Given the description of an element on the screen output the (x, y) to click on. 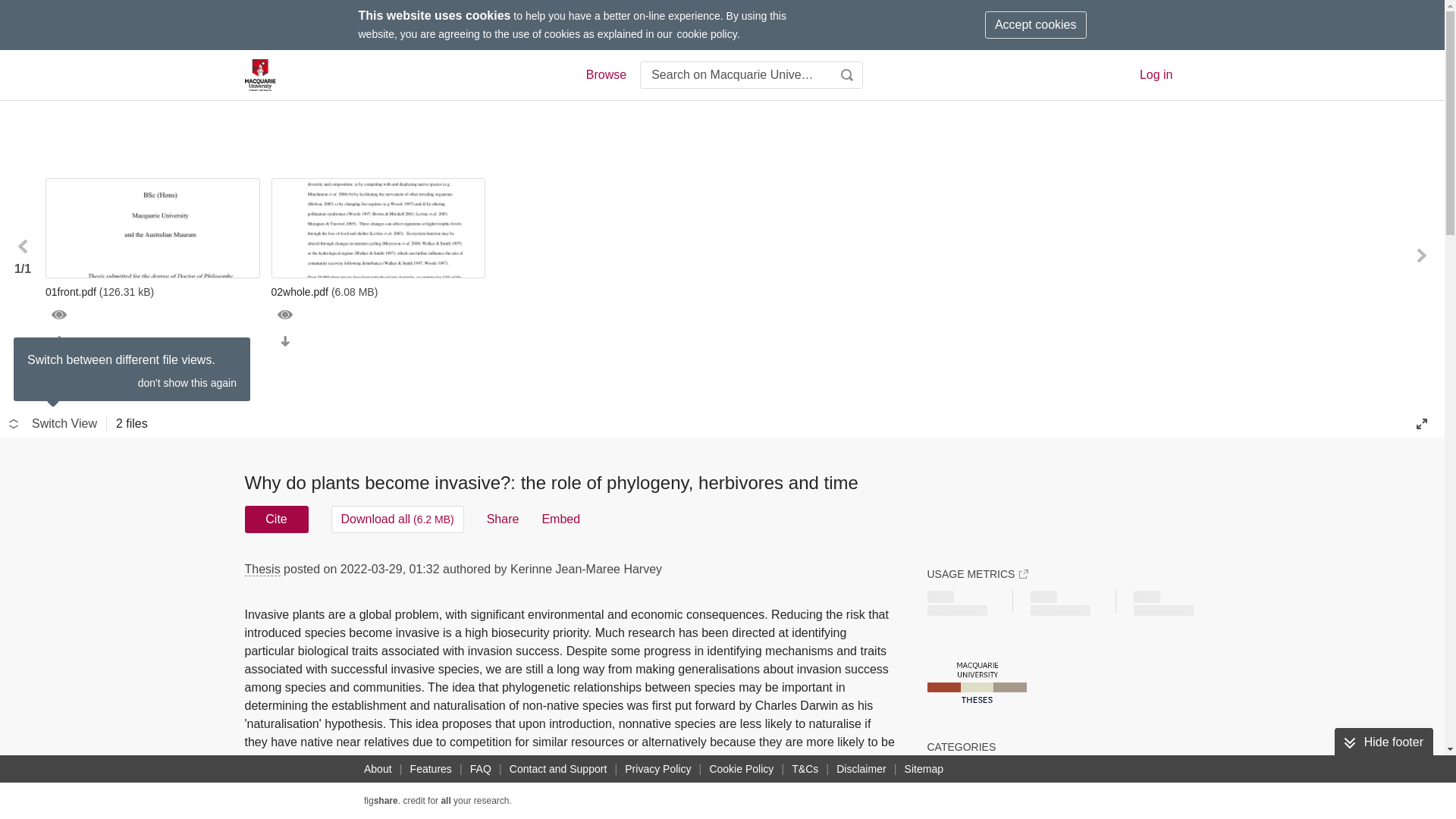
Share (502, 519)
Cite (275, 519)
Other education not elsewhere classified (1052, 768)
Accept cookies (1035, 24)
USAGE METRICS (976, 574)
Log in (1156, 74)
02whole.pdf (378, 291)
cookie policy (706, 33)
Switch View (52, 423)
don't show this again (186, 382)
Embed (560, 519)
01front.pdf (152, 291)
Browse (605, 75)
